Given the description of an element on the screen output the (x, y) to click on. 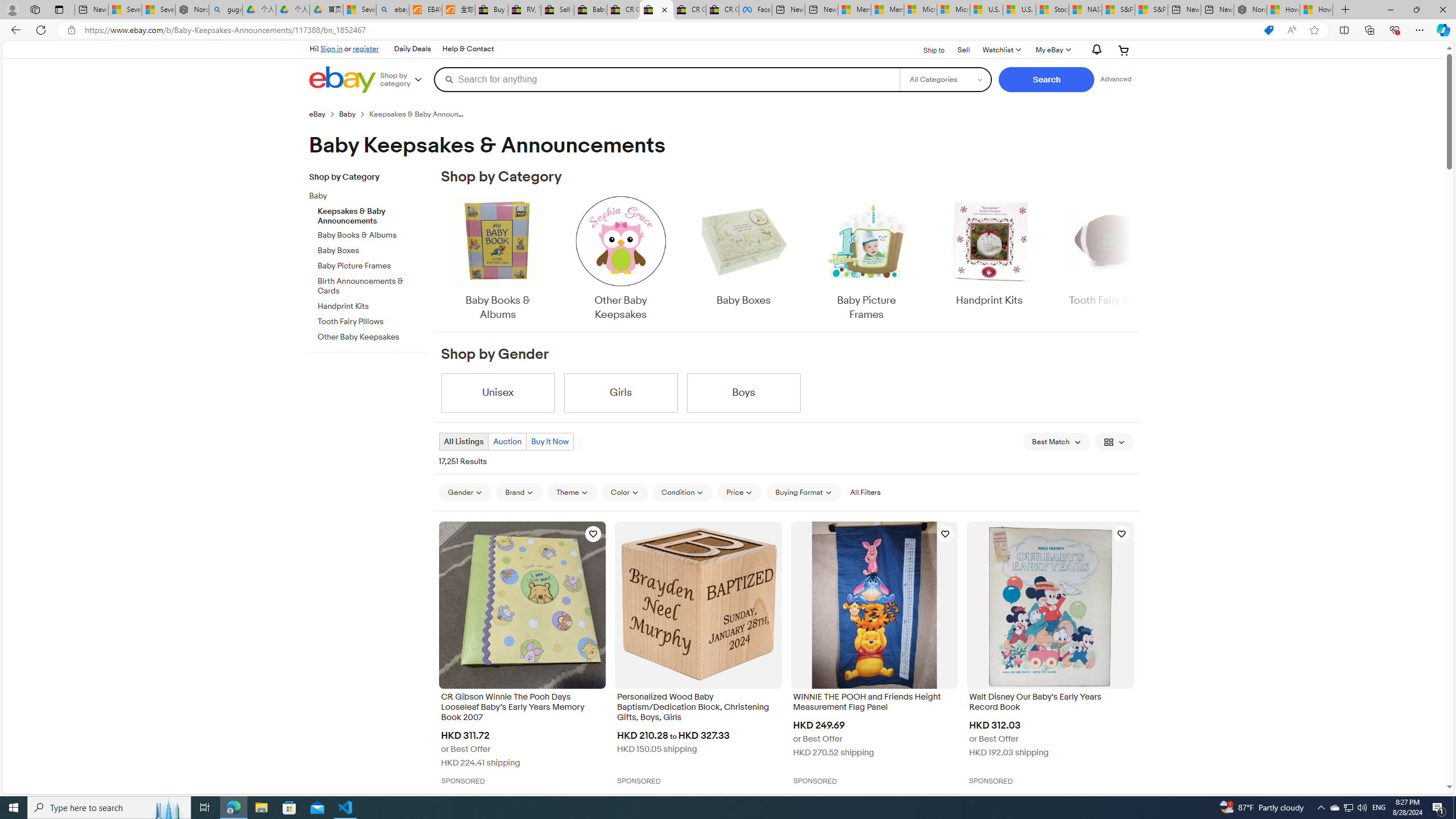
Other Baby Keepsakes (620, 258)
eBay (323, 113)
Gender (465, 492)
Handprint Kits (988, 251)
Tab actions menu (58, 9)
Personal Profile (12, 9)
Other Baby Keepsakes (620, 258)
Restore (1416, 9)
Girls (620, 392)
Daily Deals (411, 49)
My eBay (1052, 49)
Watchlist (1000, 49)
Tooth Fairy Pillows (371, 321)
Buy It Now (549, 441)
My eBayExpand My eBay (1052, 49)
